Given the description of an element on the screen output the (x, y) to click on. 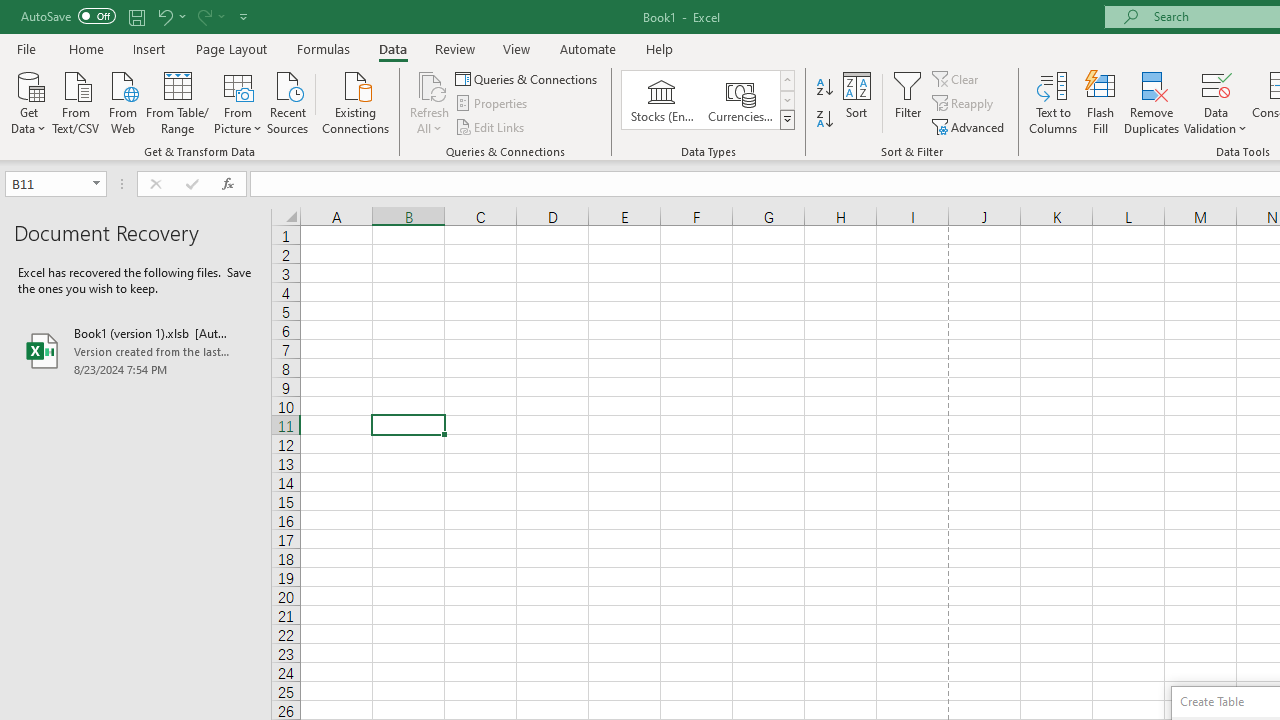
Recent Sources (287, 101)
AutoSave (68, 16)
From Web (122, 101)
From Picture (238, 101)
Properties (492, 103)
From Text/CSV (75, 101)
